Given the description of an element on the screen output the (x, y) to click on. 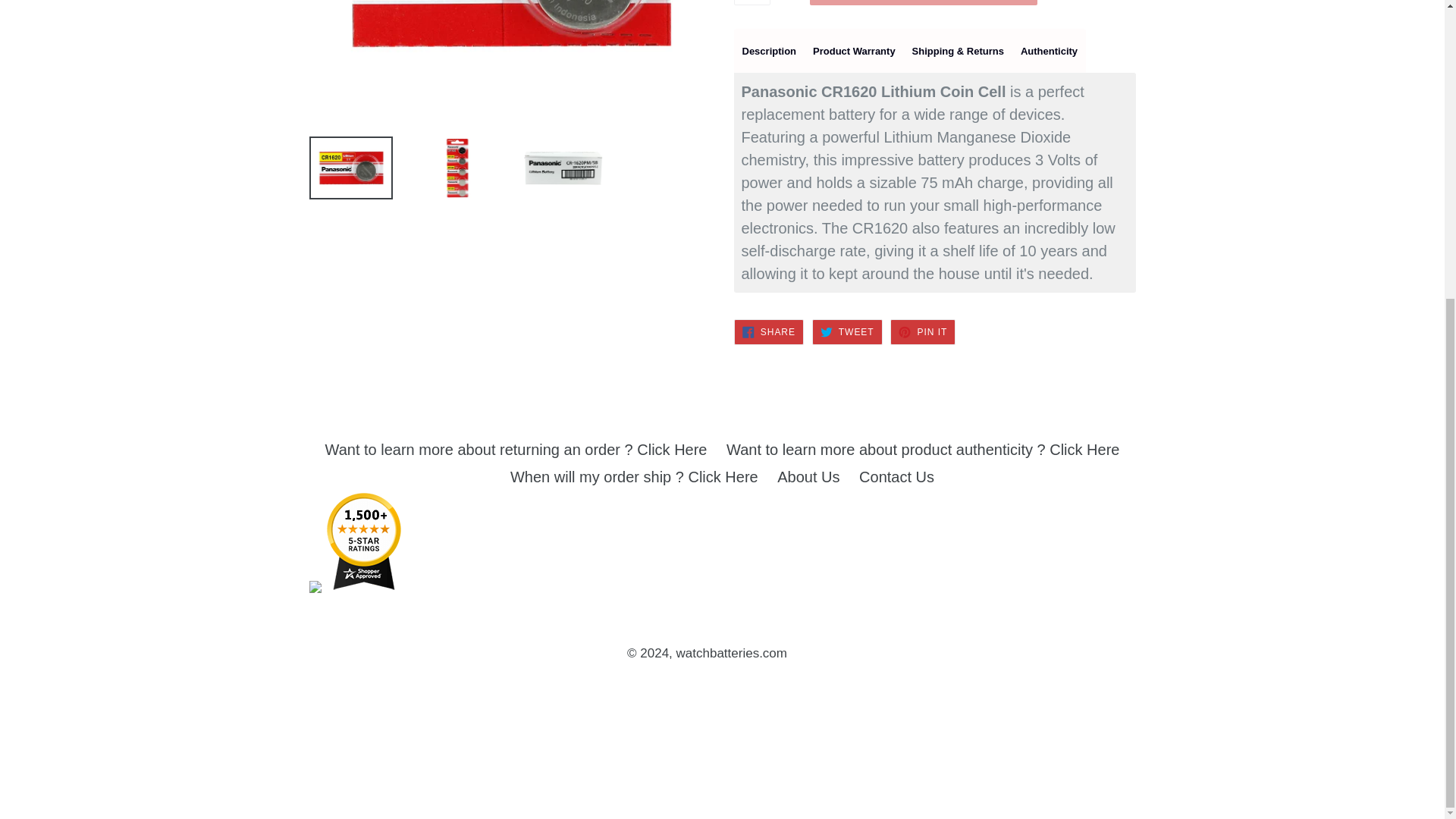
Tweet on Twitter (847, 331)
Pin on Pinterest (922, 331)
Share on Facebook (768, 331)
